Given the description of an element on the screen output the (x, y) to click on. 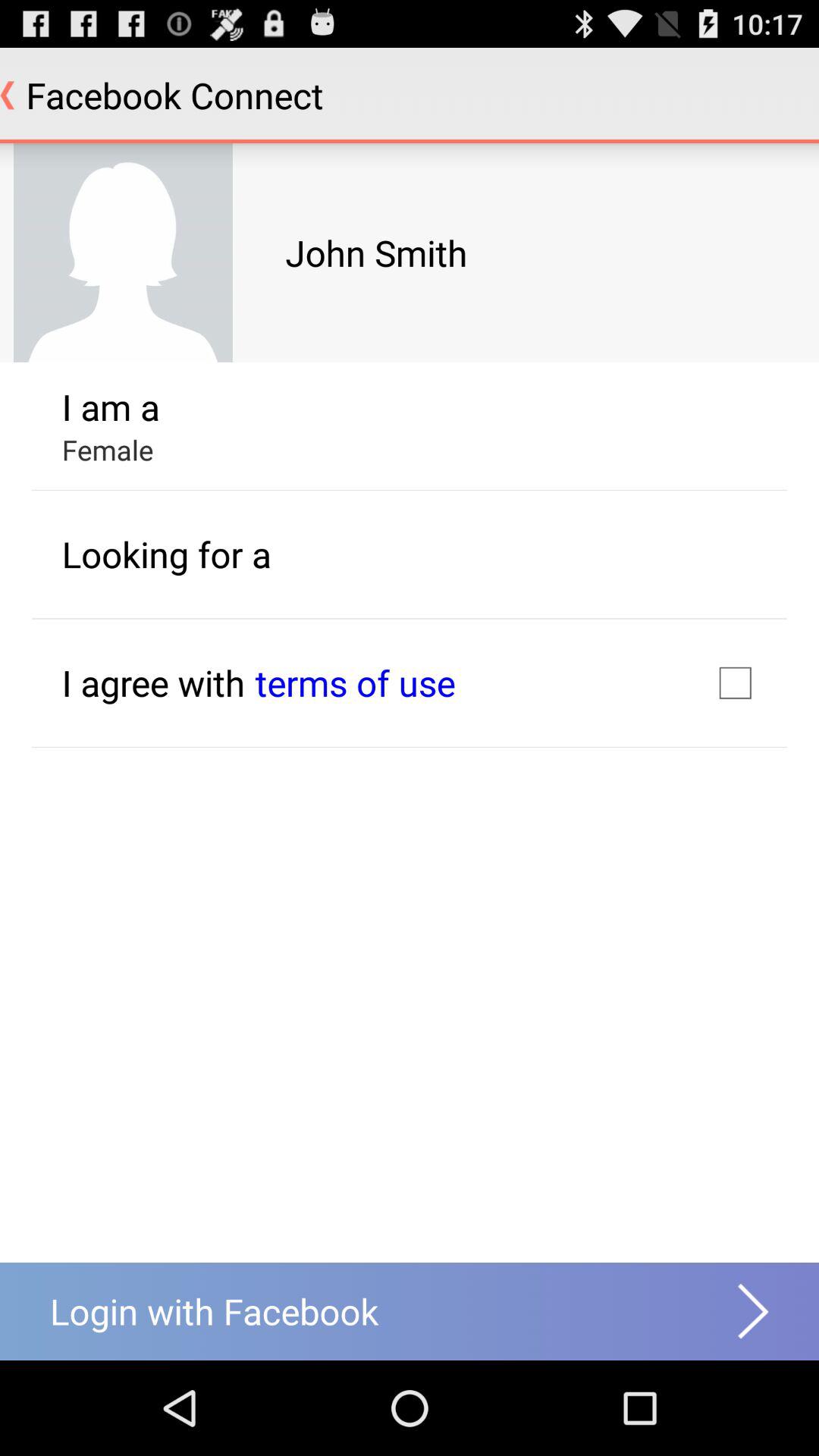
launch terms of use app (355, 682)
